Given the description of an element on the screen output the (x, y) to click on. 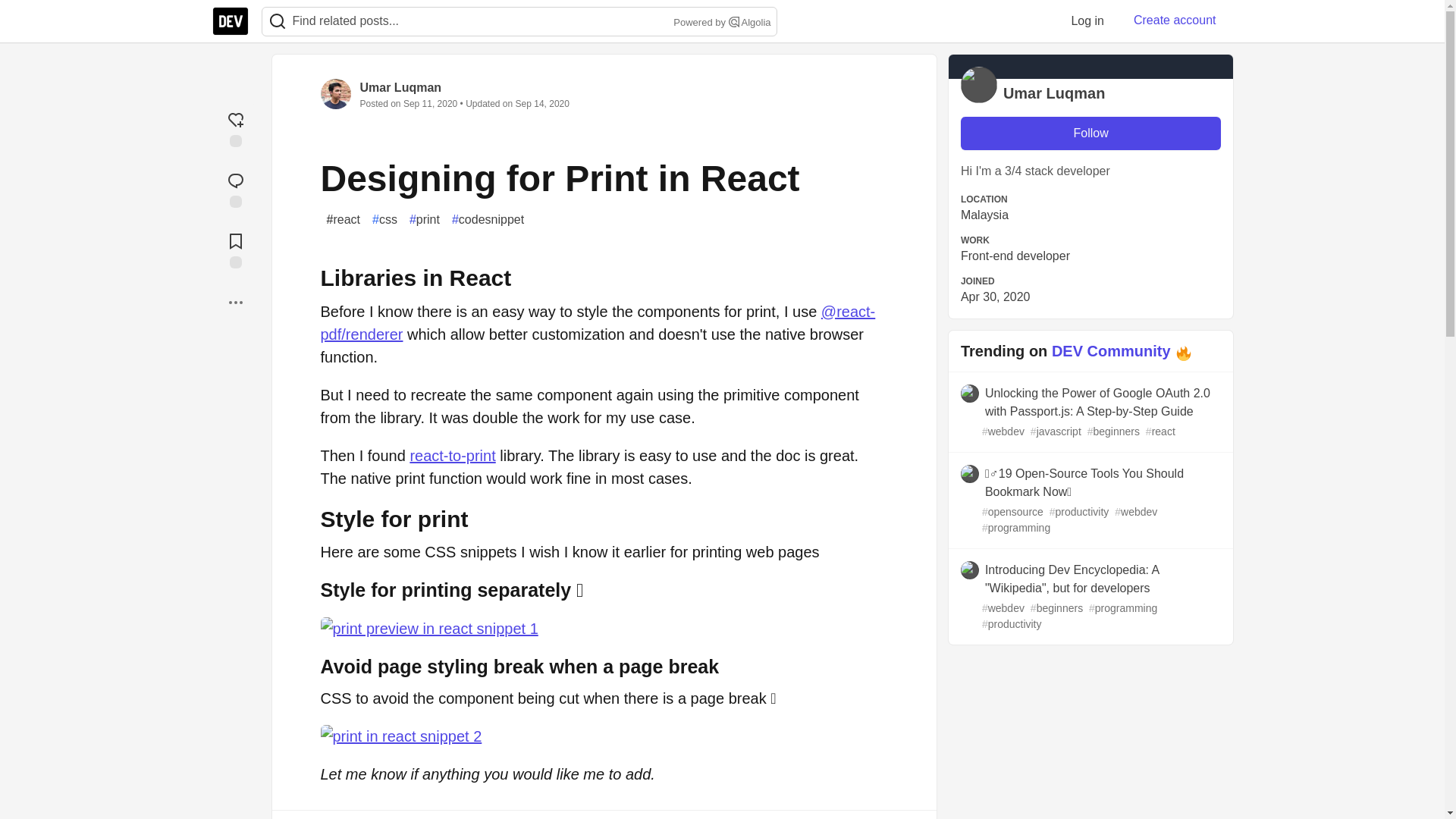
Powered by Search Algolia (720, 22)
Search (734, 21)
Umar Luqman (400, 87)
Search (276, 21)
Search (277, 21)
Create account (1174, 20)
Log in (1087, 20)
More... (234, 302)
Hot (1183, 352)
react-to-print (452, 455)
